Given the description of an element on the screen output the (x, y) to click on. 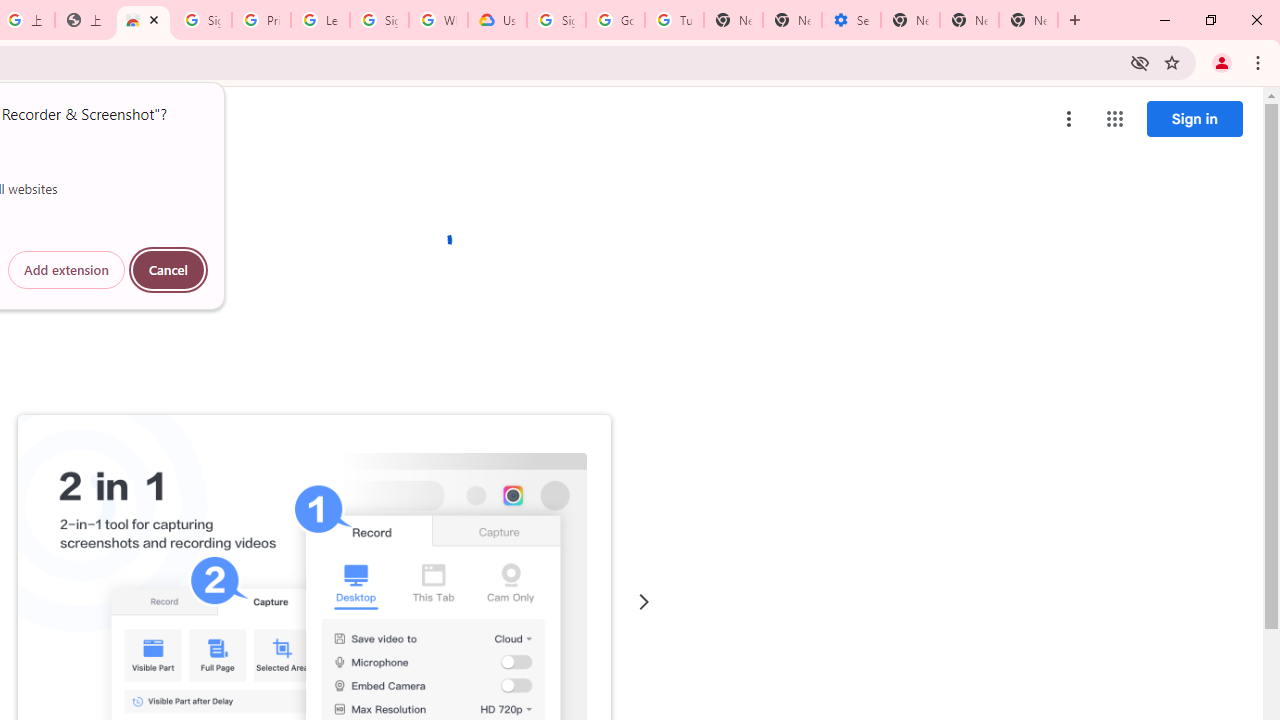
Google Account Help (615, 20)
Next slide (643, 601)
Settings - Addresses and more (850, 20)
New Tab (1028, 20)
Awesome Screen Recorder & Screenshot - Chrome Web Store (142, 20)
Sign in - Google Accounts (556, 20)
Add extension (66, 269)
